Given the description of an element on the screen output the (x, y) to click on. 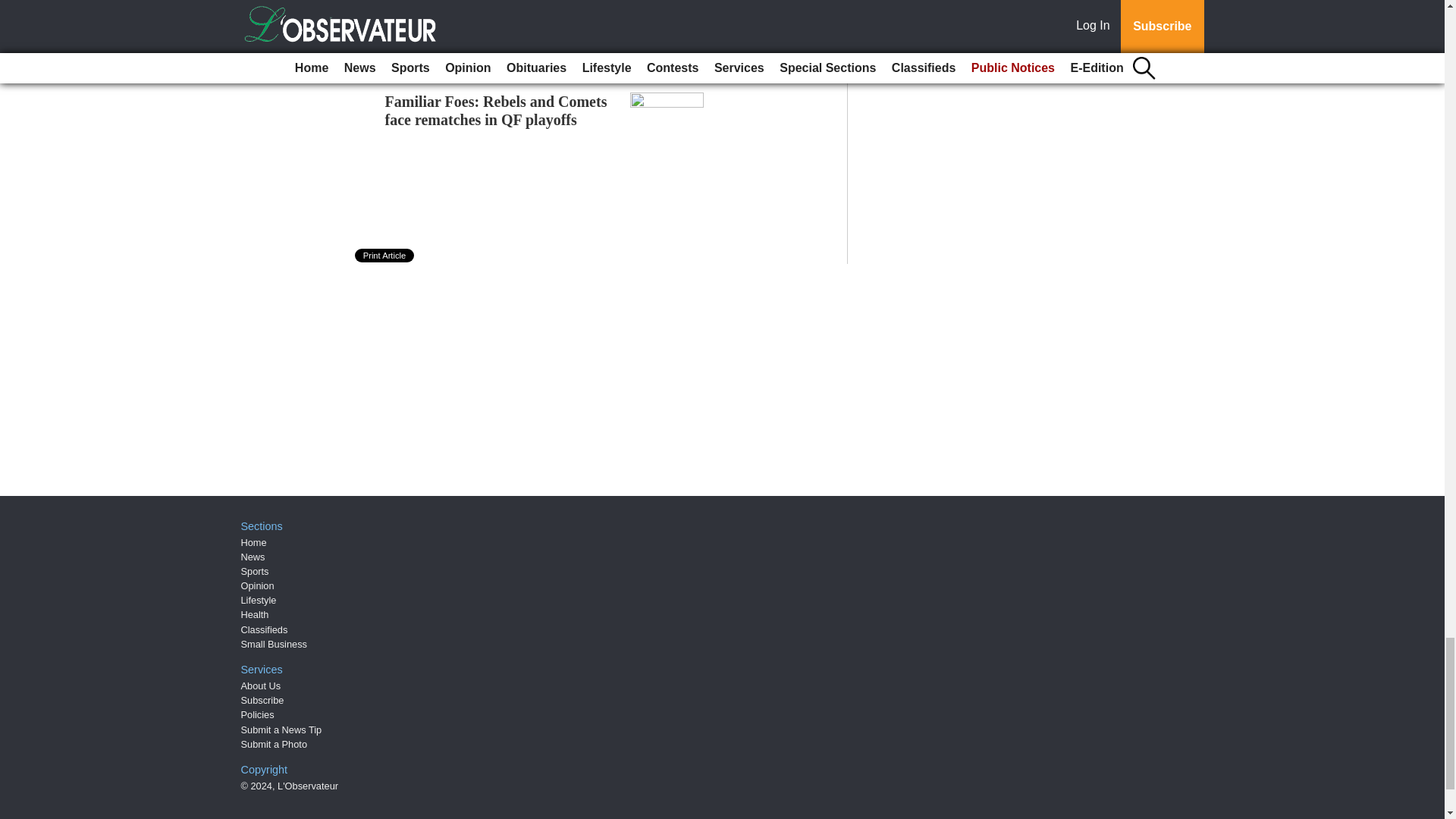
Print Article (384, 255)
